Given the description of an element on the screen output the (x, y) to click on. 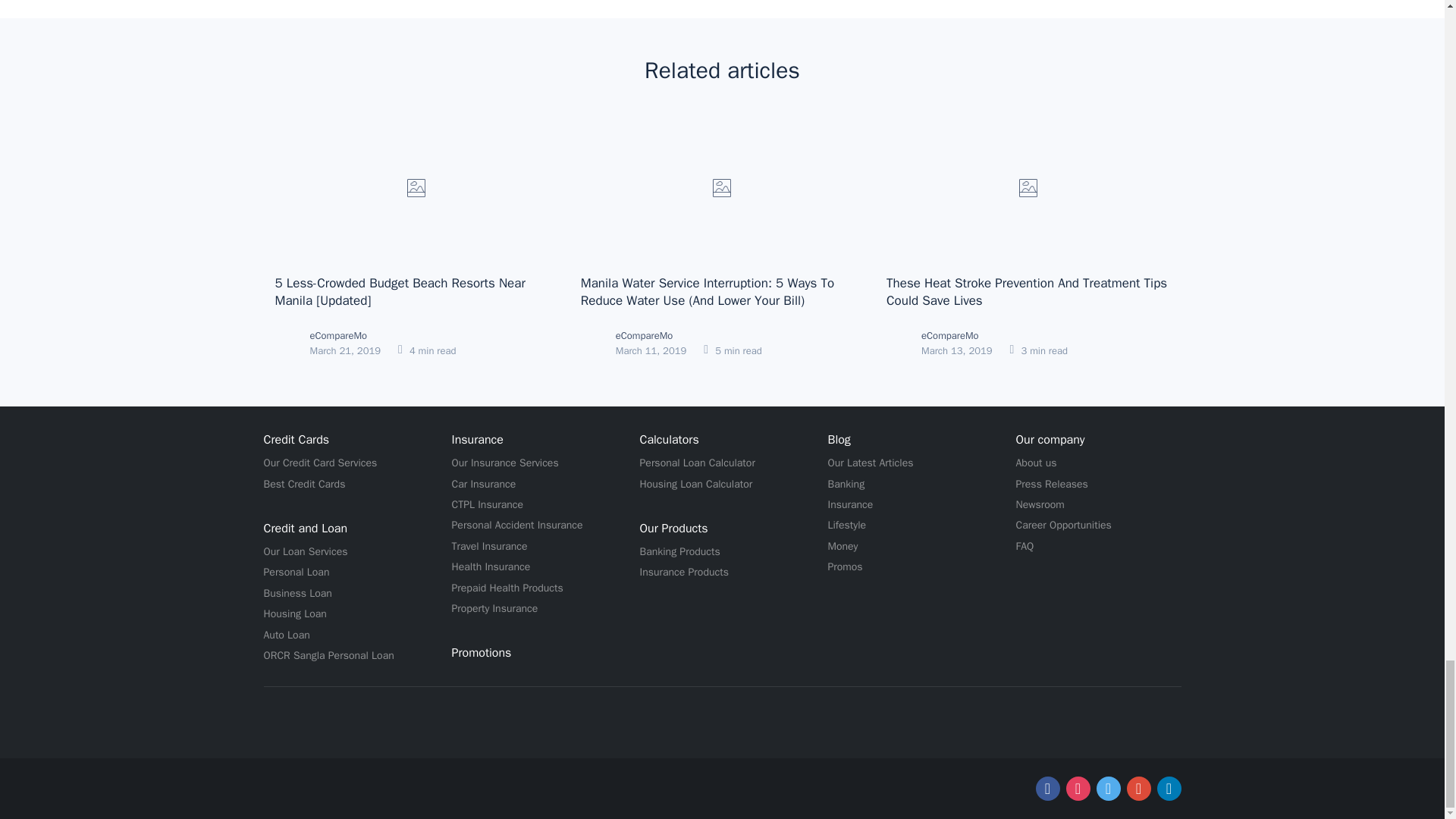
Personal Accident Insurance (517, 524)
Car Insurance (483, 484)
Our Credit Card Services (320, 463)
CTPL Insurance (487, 504)
Housing Loan (294, 614)
Promotions (481, 652)
Personal Loan (296, 572)
Travel Insurance (489, 546)
Auto Loan (286, 635)
Our Insurance Services (505, 463)
